Given the description of an element on the screen output the (x, y) to click on. 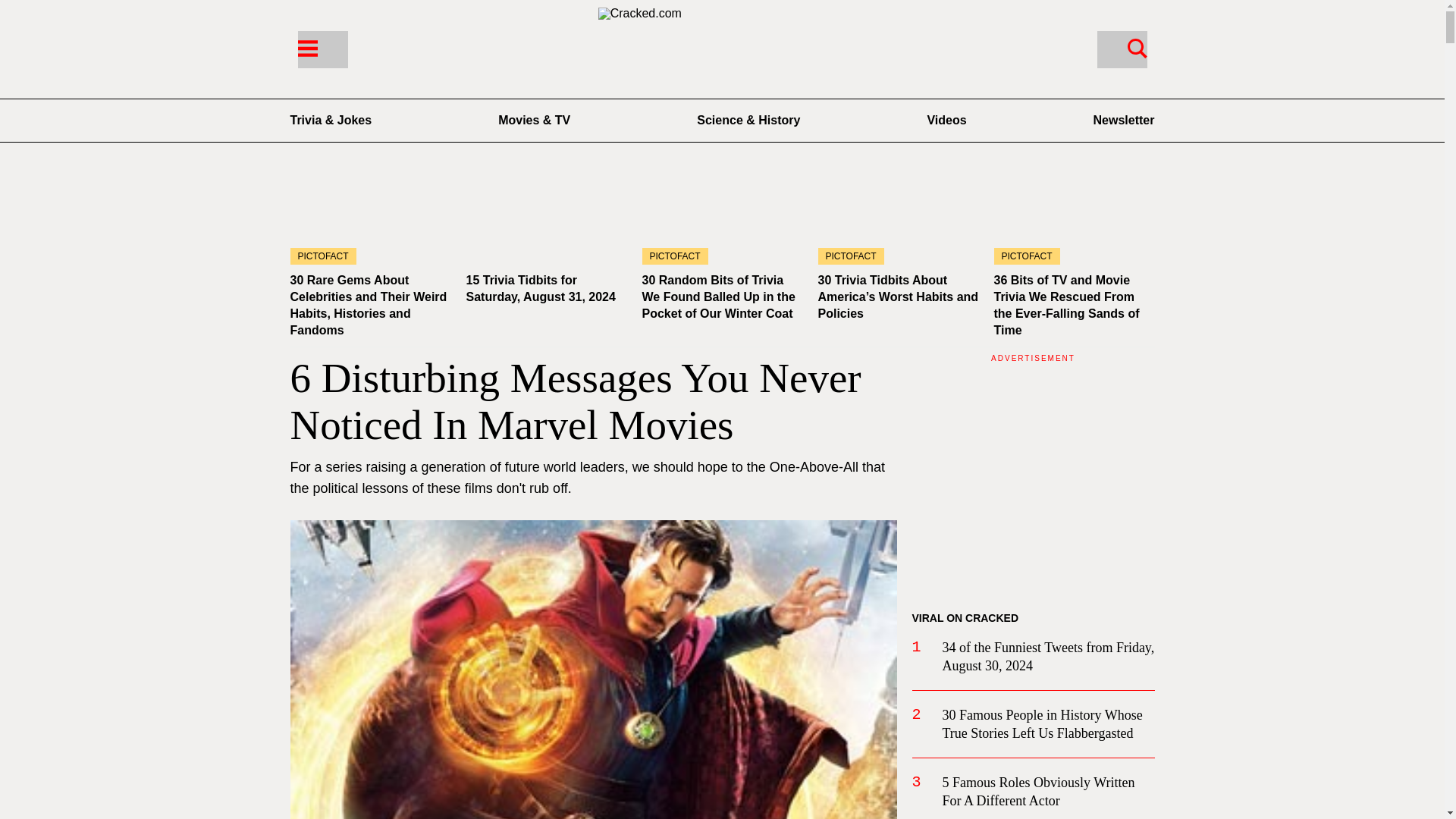
Menu (322, 48)
PICTOFACT (369, 219)
15 Trivia Tidbits for Saturday, August 31, 2024 (539, 288)
PICTOFACT (722, 219)
15 Trivia Tidbits for Saturday, August 31, 2024 (545, 219)
Menu (307, 47)
PICTOFACT (897, 219)
Newsletter (1123, 119)
